Given the description of an element on the screen output the (x, y) to click on. 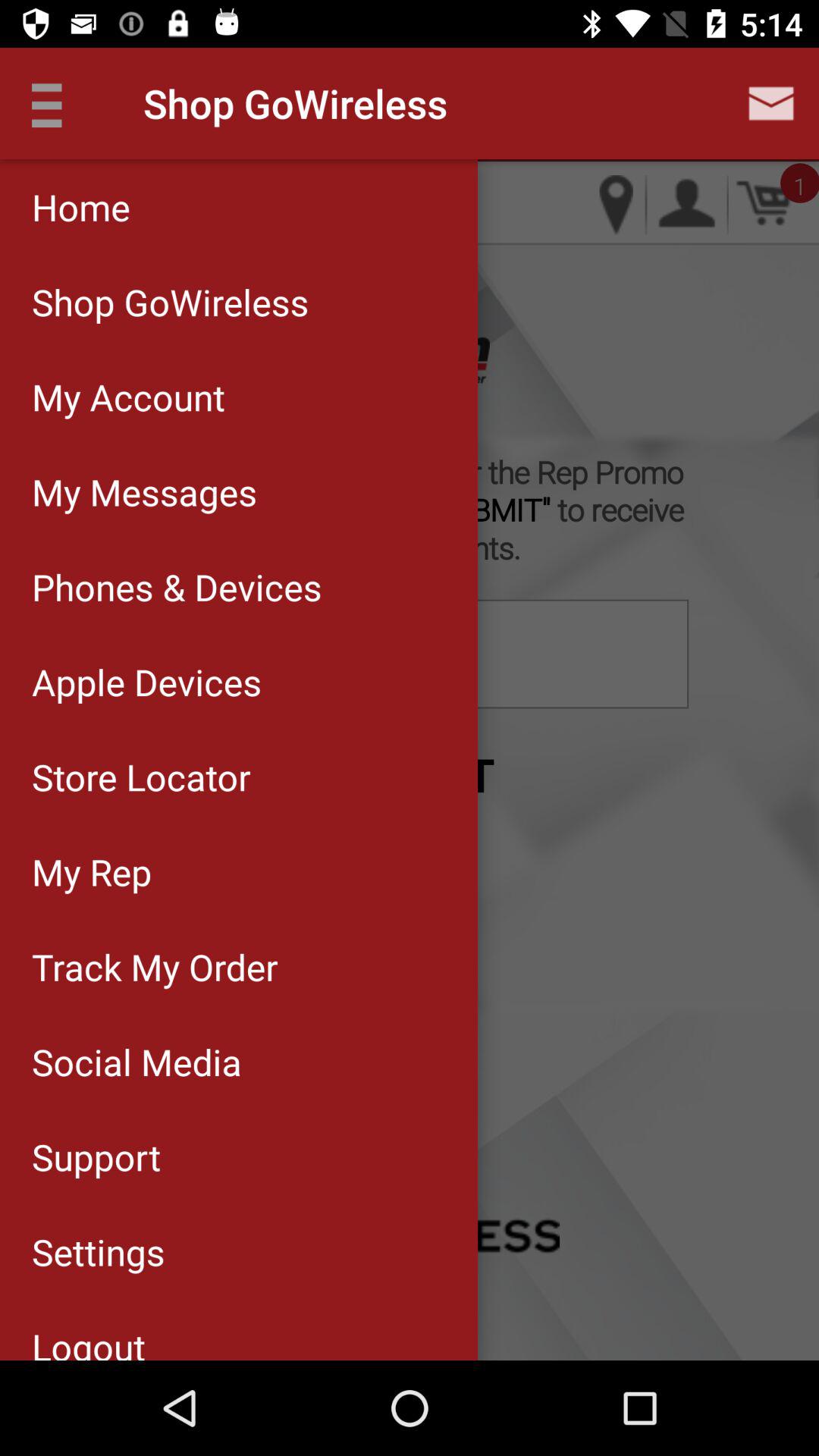
select the icon to the left of shop gowireless item (55, 103)
